Given the description of an element on the screen output the (x, y) to click on. 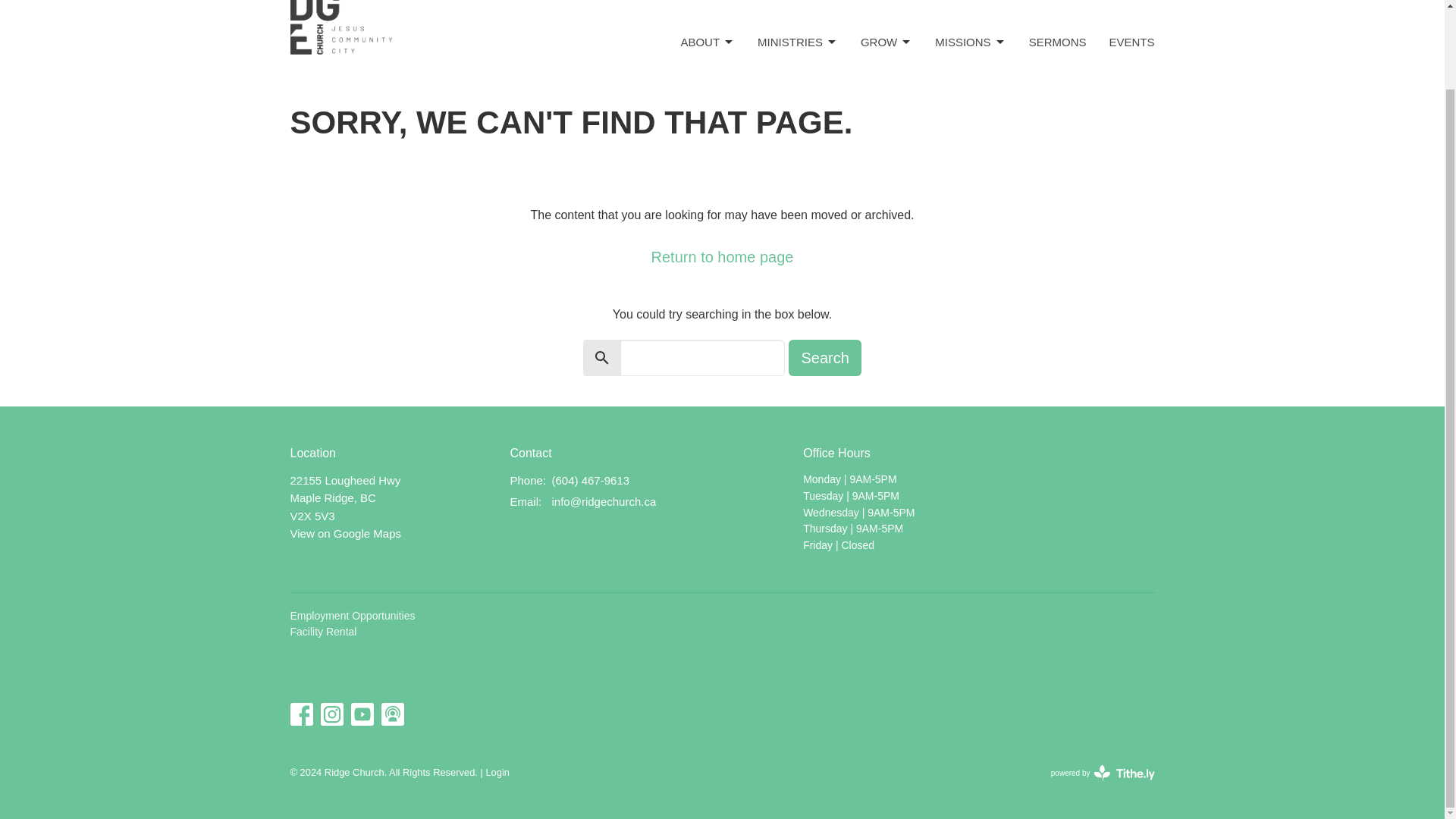
ABOUT (707, 41)
translation missing: en.ui.email (523, 501)
MISSIONS (970, 41)
MINISTRIES (797, 41)
Return to home page (722, 257)
GROW (886, 41)
Employment Opportunities (351, 615)
SERMONS (1057, 41)
EVENTS (1131, 41)
Facility Rental (322, 631)
View on Google Maps (344, 533)
Search (824, 357)
